Given the description of an element on the screen output the (x, y) to click on. 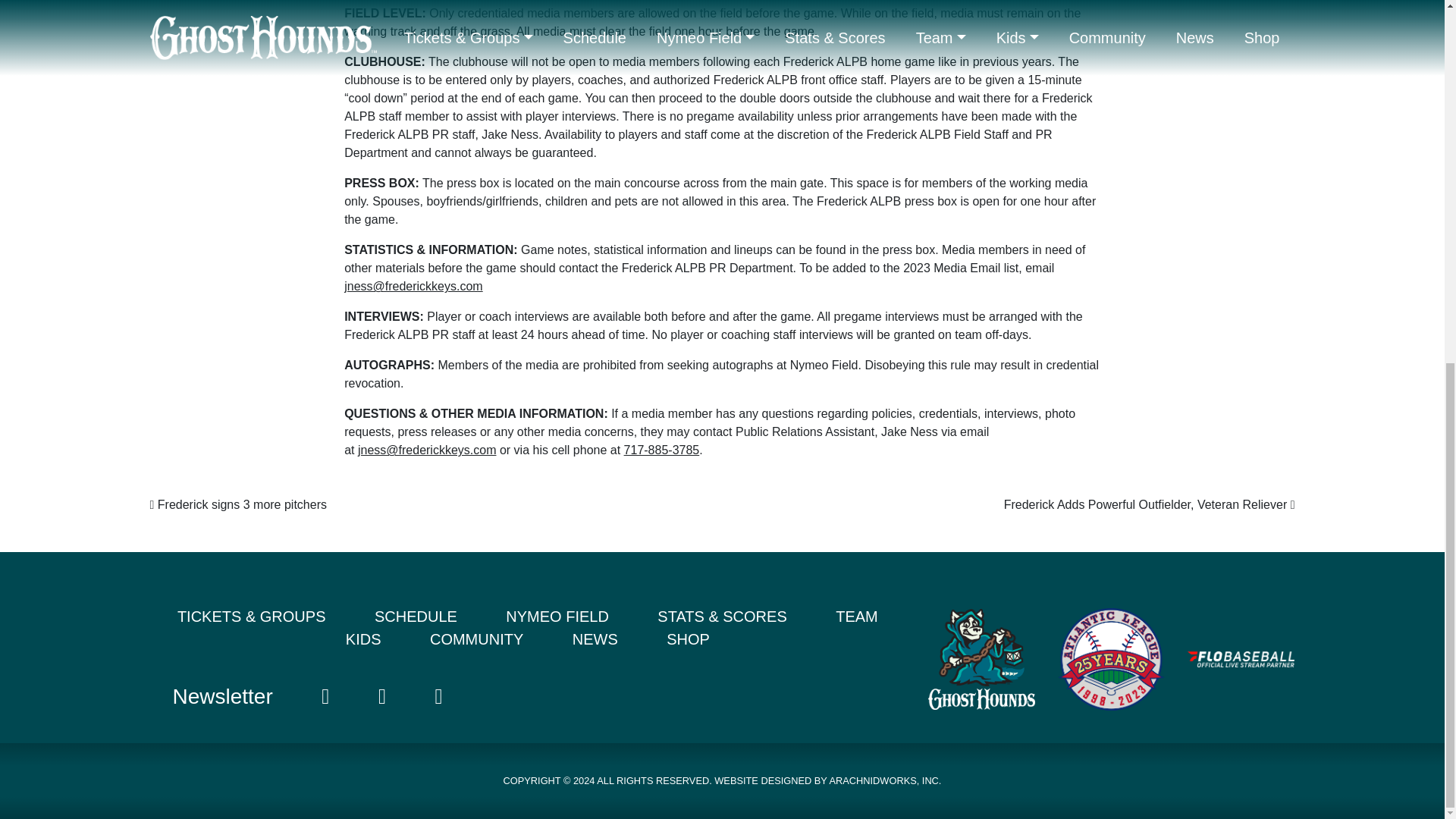
 Frederick signs 3 more pitchers (237, 504)
717-885-3785 (662, 449)
